Given the description of an element on the screen output the (x, y) to click on. 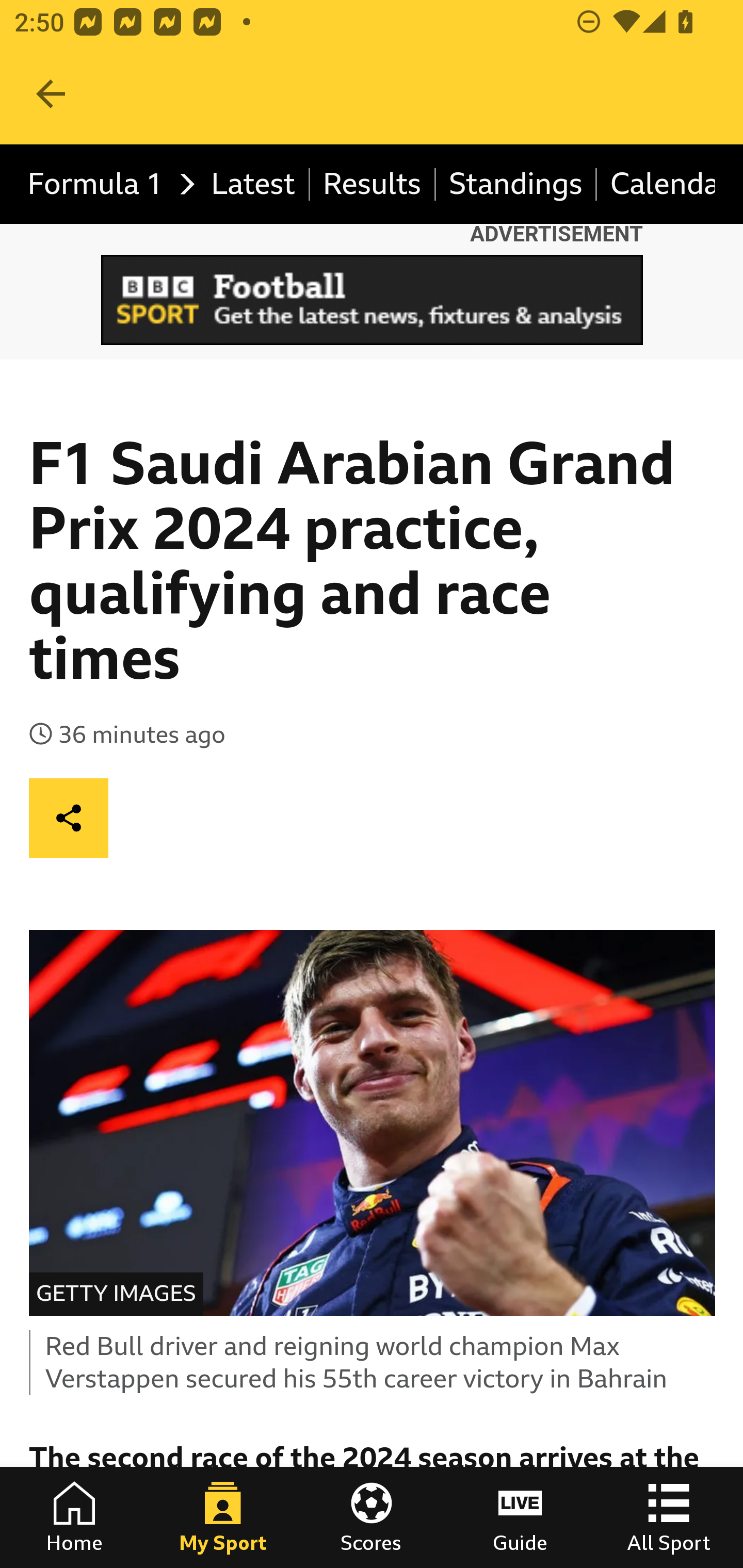
Navigate up (50, 93)
Formula 1 (106, 184)
Latest (253, 184)
Results (372, 184)
Standings (515, 184)
Calendar (655, 184)
Share (68, 817)
Home (74, 1517)
Scores (371, 1517)
Guide (519, 1517)
All Sport (668, 1517)
